Given the description of an element on the screen output the (x, y) to click on. 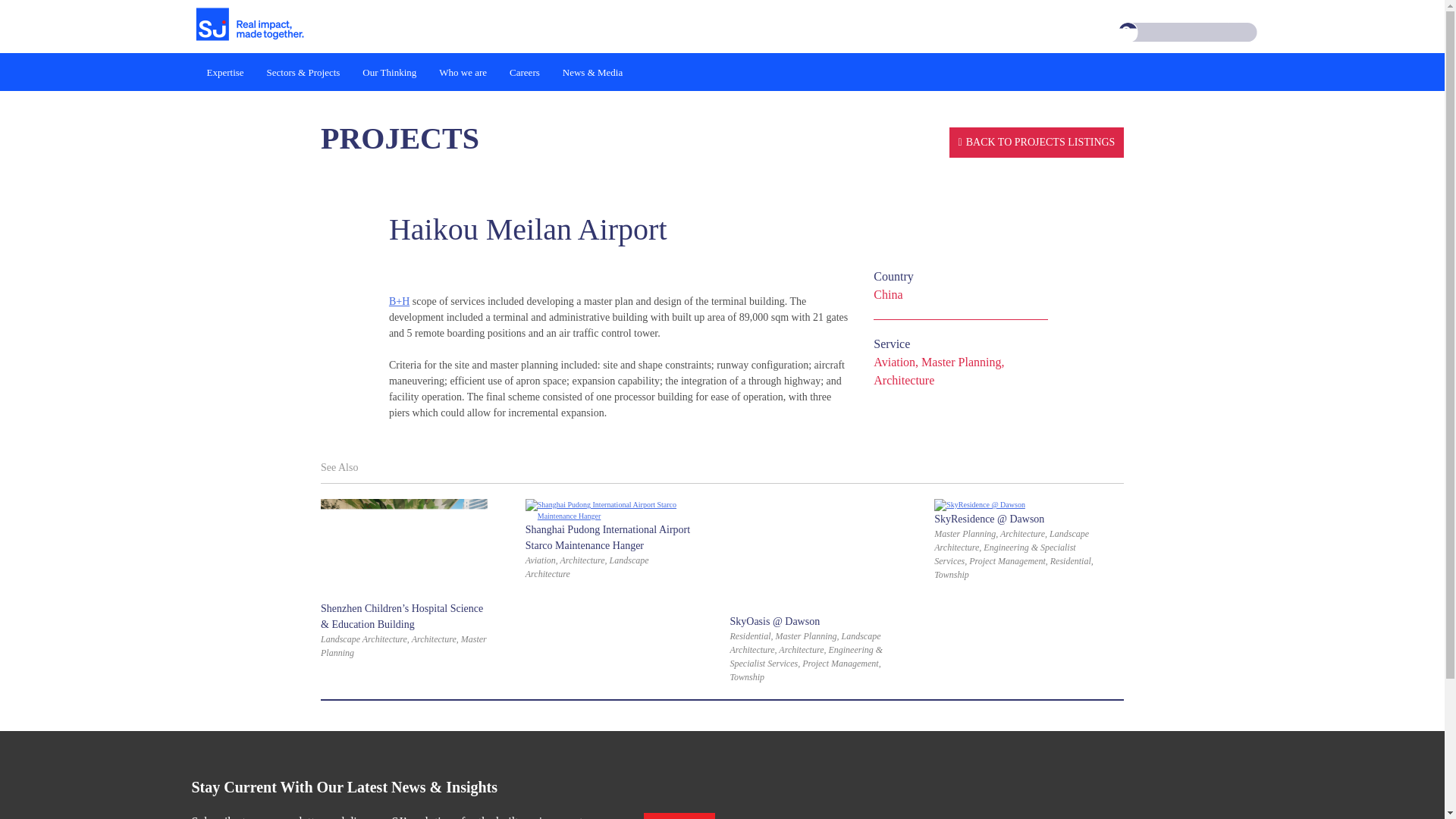
Expertise (225, 71)
